Given the description of an element on the screen output the (x, y) to click on. 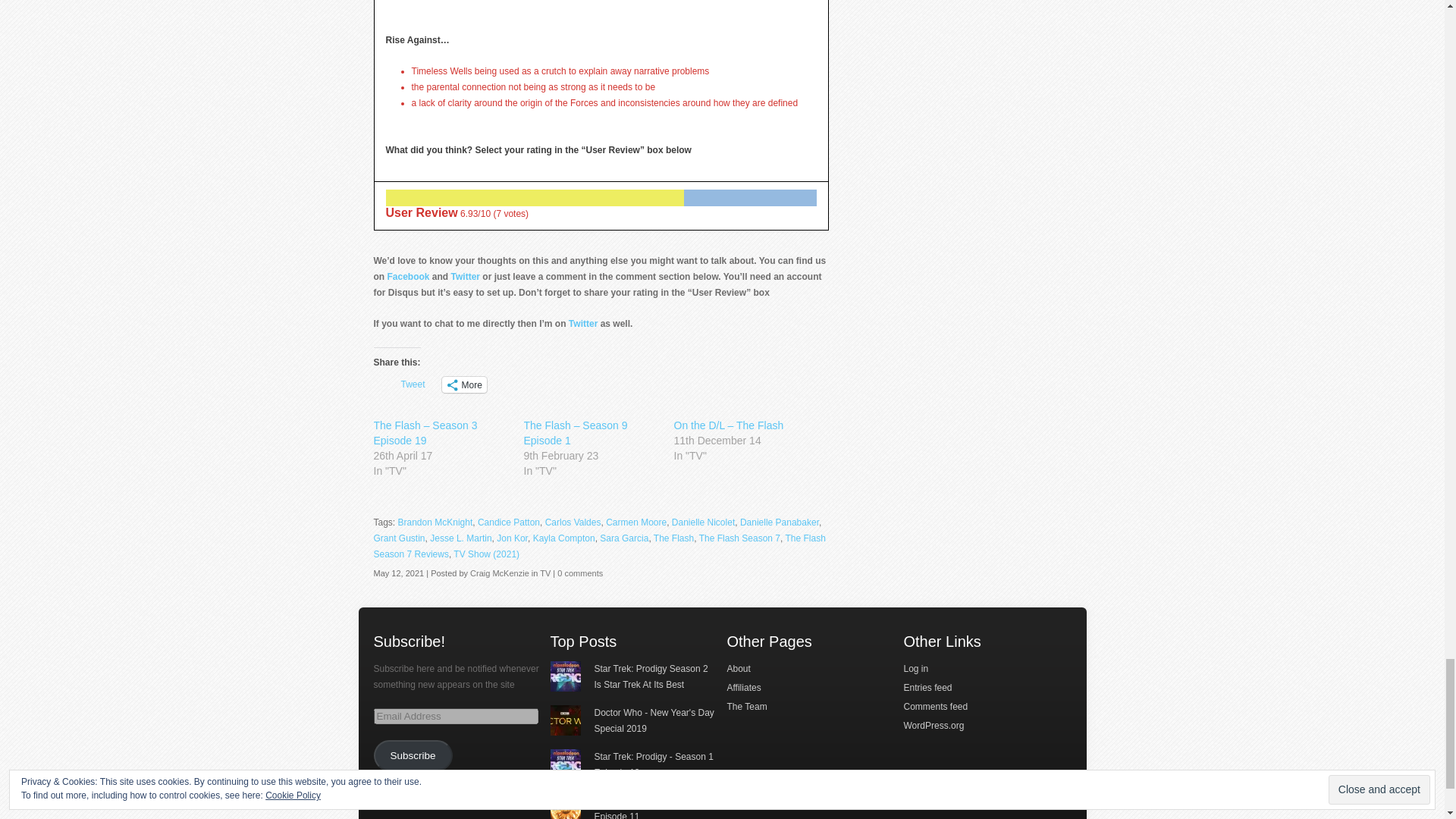
Posts by Craig McKenzie (499, 573)
